Given the description of an element on the screen output the (x, y) to click on. 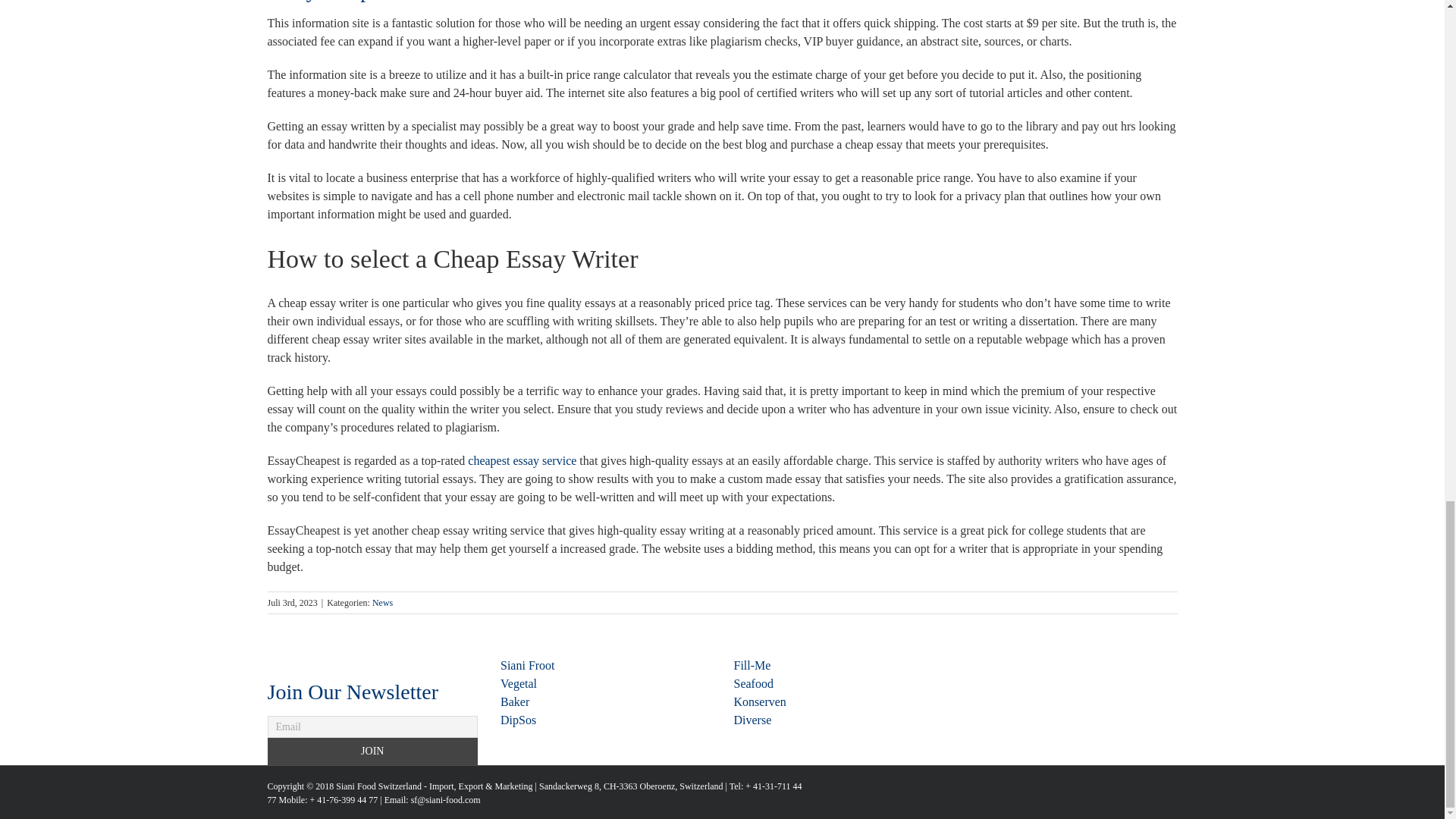
JOIN (371, 750)
